Given the description of an element on the screen output the (x, y) to click on. 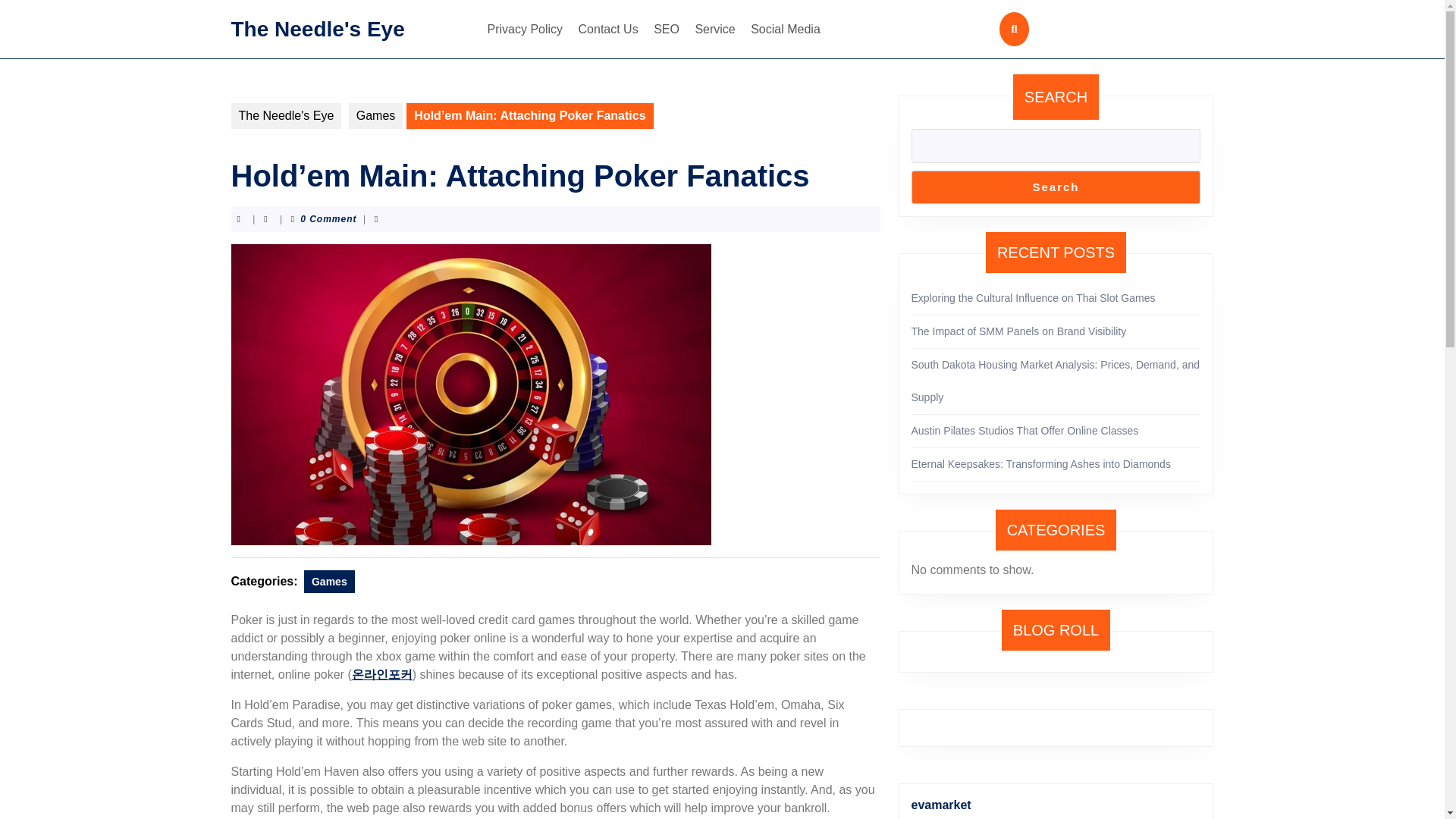
Service (714, 28)
Exploring the Cultural Influence on Thai Slot Games (1033, 297)
Contact Us (608, 28)
Privacy Policy (524, 28)
evamarket (941, 804)
The Impact of SMM Panels on Brand Visibility (1018, 331)
SEO (666, 28)
Games (376, 115)
Games (329, 581)
Eternal Keepsakes: Transforming Ashes into Diamonds (1040, 463)
Search (1056, 186)
The Needle's Eye (285, 115)
Social Media (785, 28)
Austin Pilates Studios That Offer Online Classes (1024, 430)
